Given the description of an element on the screen output the (x, y) to click on. 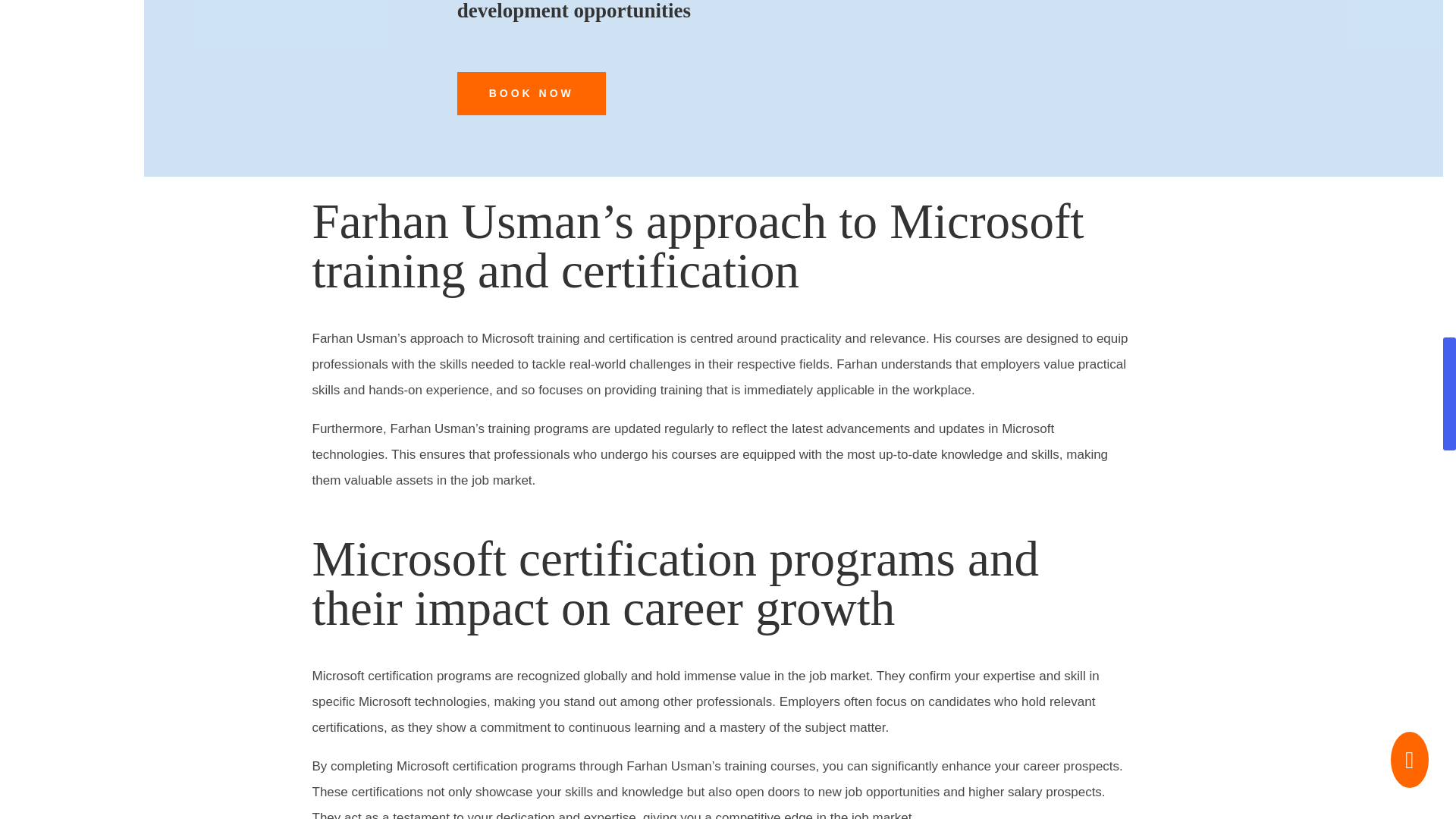
BOOK NOW (531, 94)
